Given the description of an element on the screen output the (x, y) to click on. 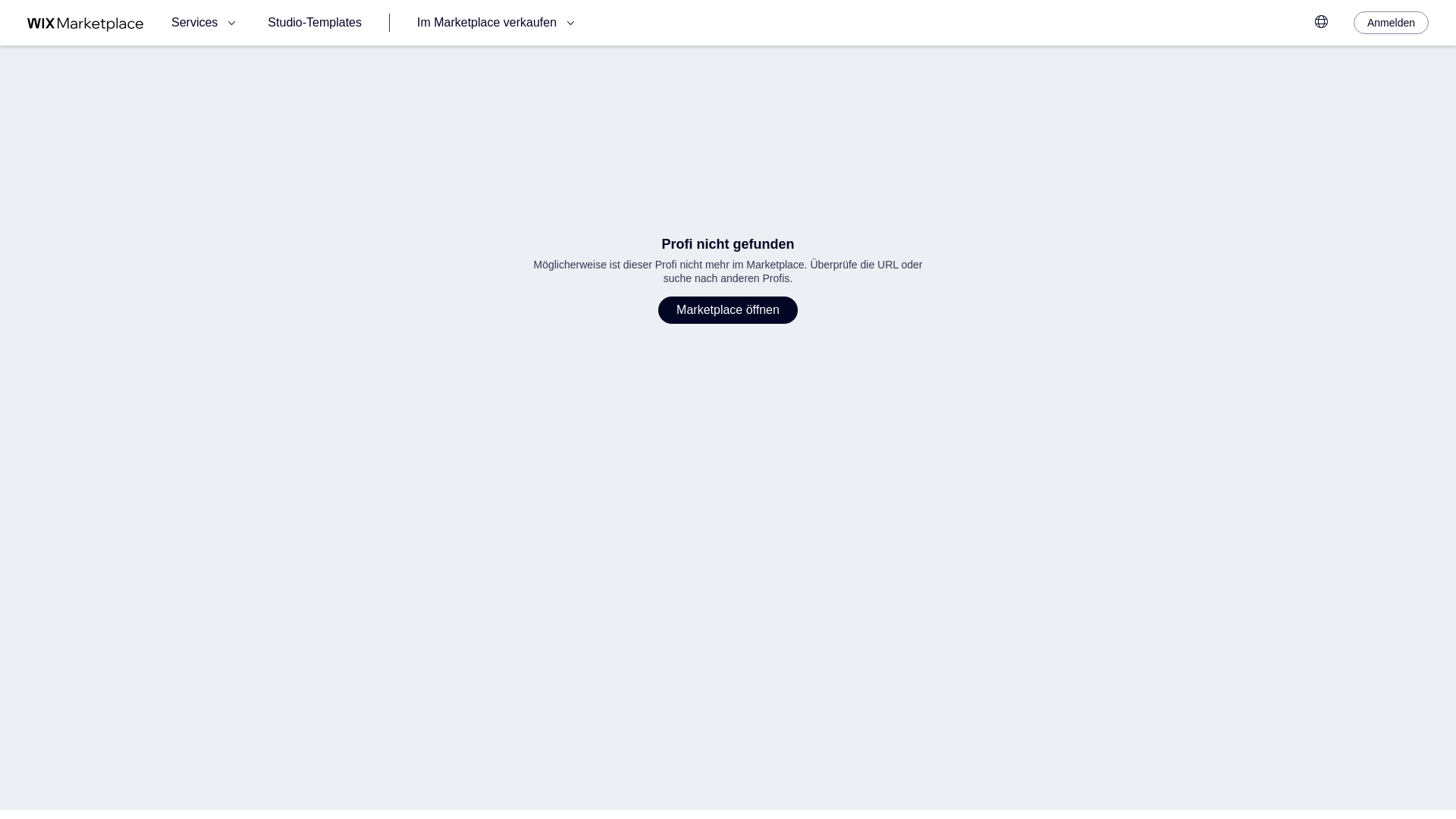
Services (205, 22)
Studio-Templates (314, 22)
Anmelden (1391, 22)
Im Marketplace verkaufen (497, 22)
